Given the description of an element on the screen output the (x, y) to click on. 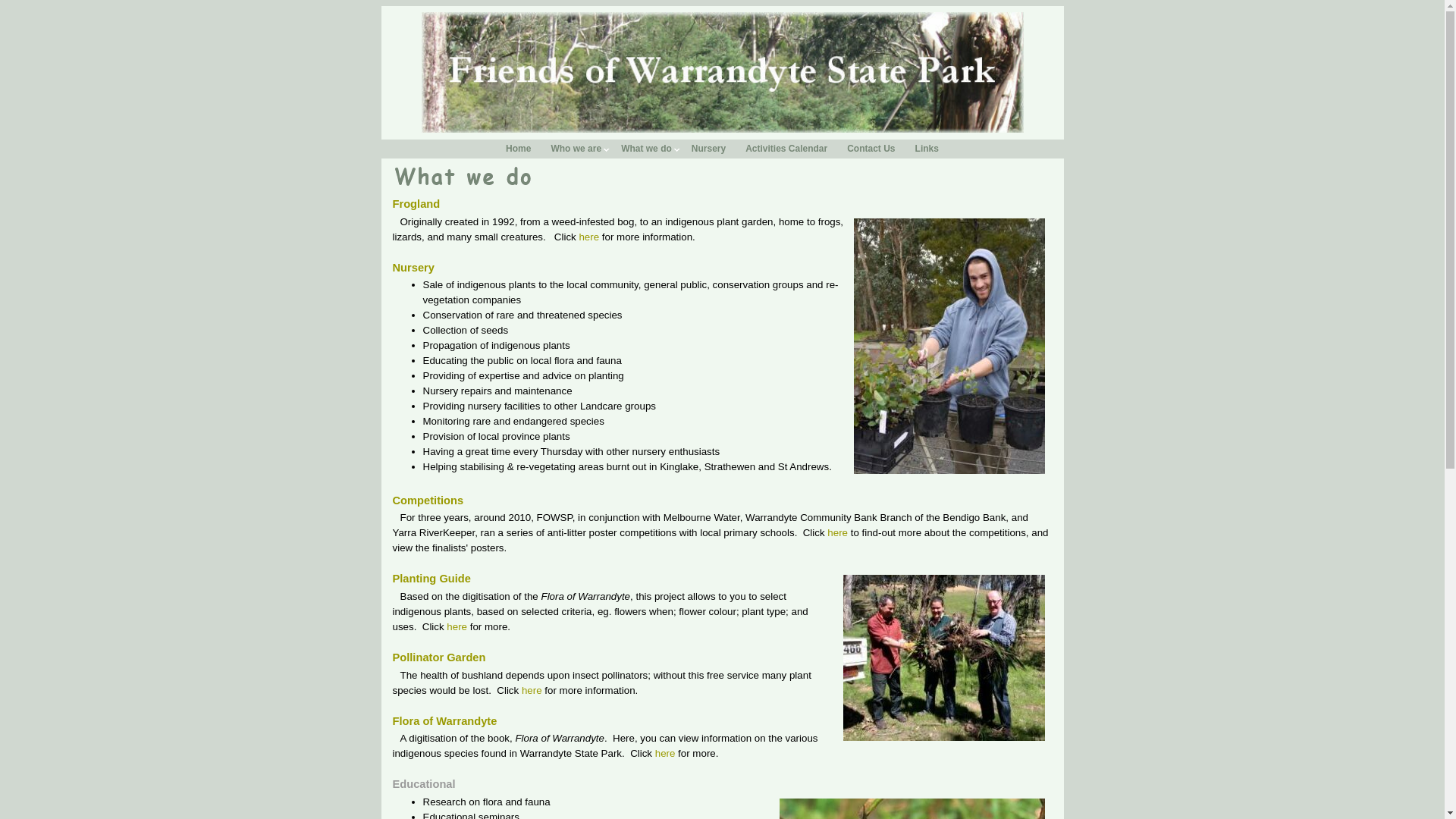
Nursery Element type: text (708, 148)
Flora of Warrandyte Element type: text (444, 721)
Links Element type: text (926, 148)
Home Element type: text (517, 148)
here Element type: text (588, 236)
Pollinator Garden Element type: text (439, 657)
here Element type: text (531, 690)
Contact Us Element type: text (870, 148)
Nursery Element type: text (413, 267)
Who we are Element type: text (575, 148)
here Element type: text (665, 753)
Activities Calendar Element type: text (786, 148)
here Element type: text (837, 532)
Competitions Element type: text (428, 500)
What we do Element type: text (646, 148)
Planting Guide Element type: text (431, 578)
Frogland Element type: text (416, 203)
here Element type: text (456, 626)
